Given the description of an element on the screen output the (x, y) to click on. 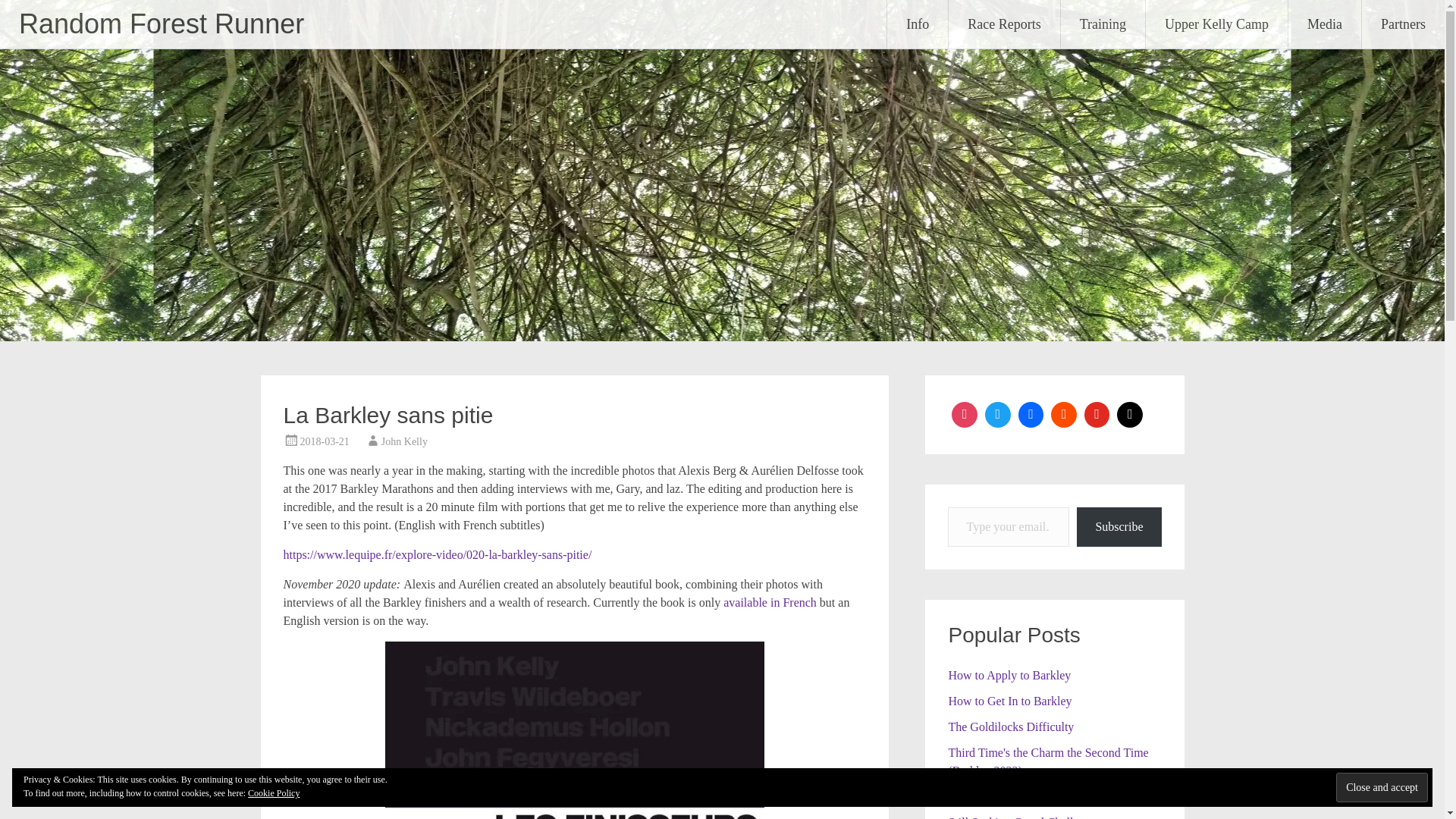
John Kelly (404, 441)
Random Forest Runner (161, 23)
available in French (769, 602)
Media (1324, 24)
Random Forest Runner (161, 23)
Close and accept (1382, 787)
Training (1102, 24)
Info (916, 24)
Instagram (964, 414)
2018-03-21 (324, 441)
